Given the description of an element on the screen output the (x, y) to click on. 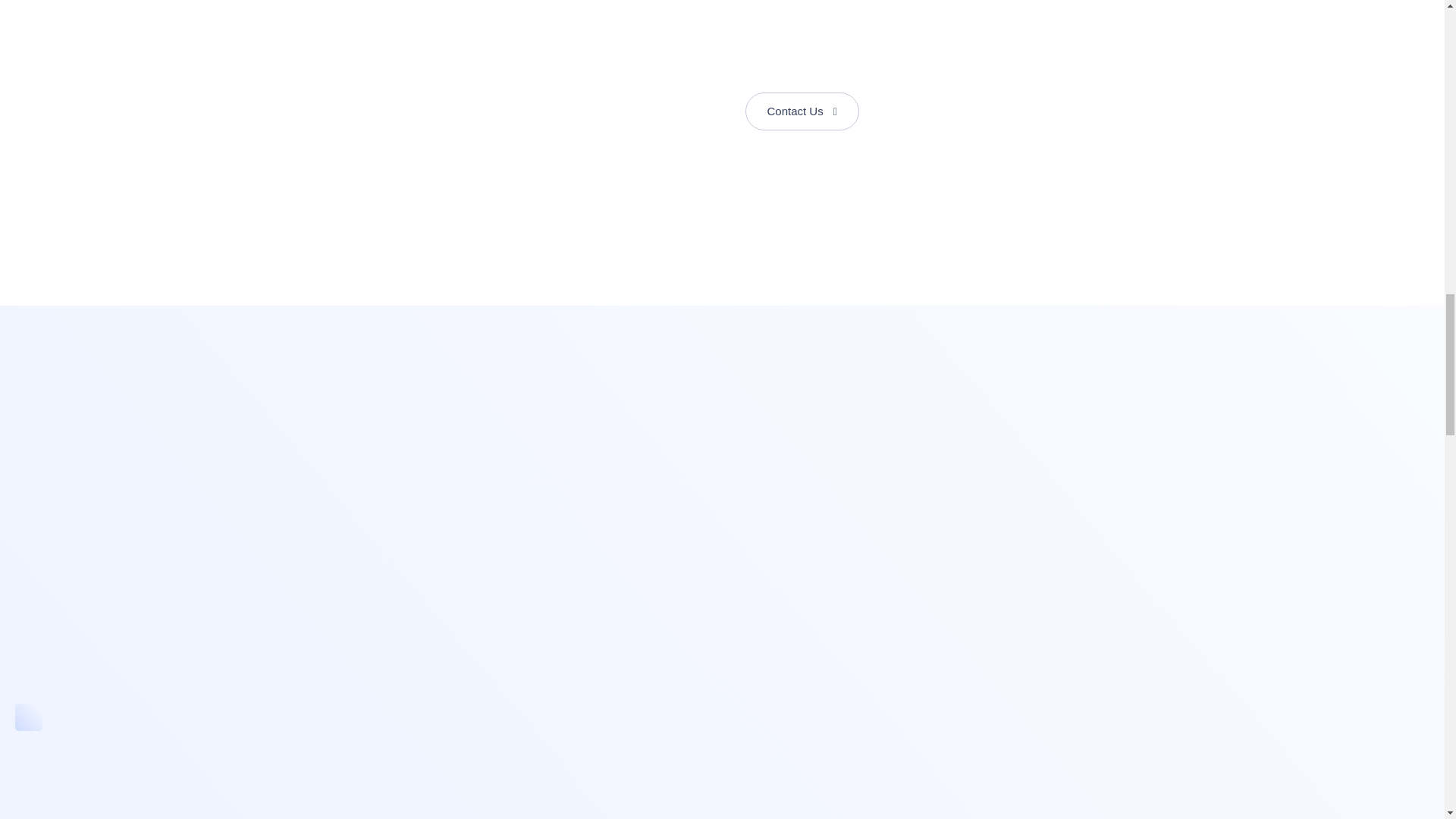
Contact Us (801, 111)
